Given the description of an element on the screen output the (x, y) to click on. 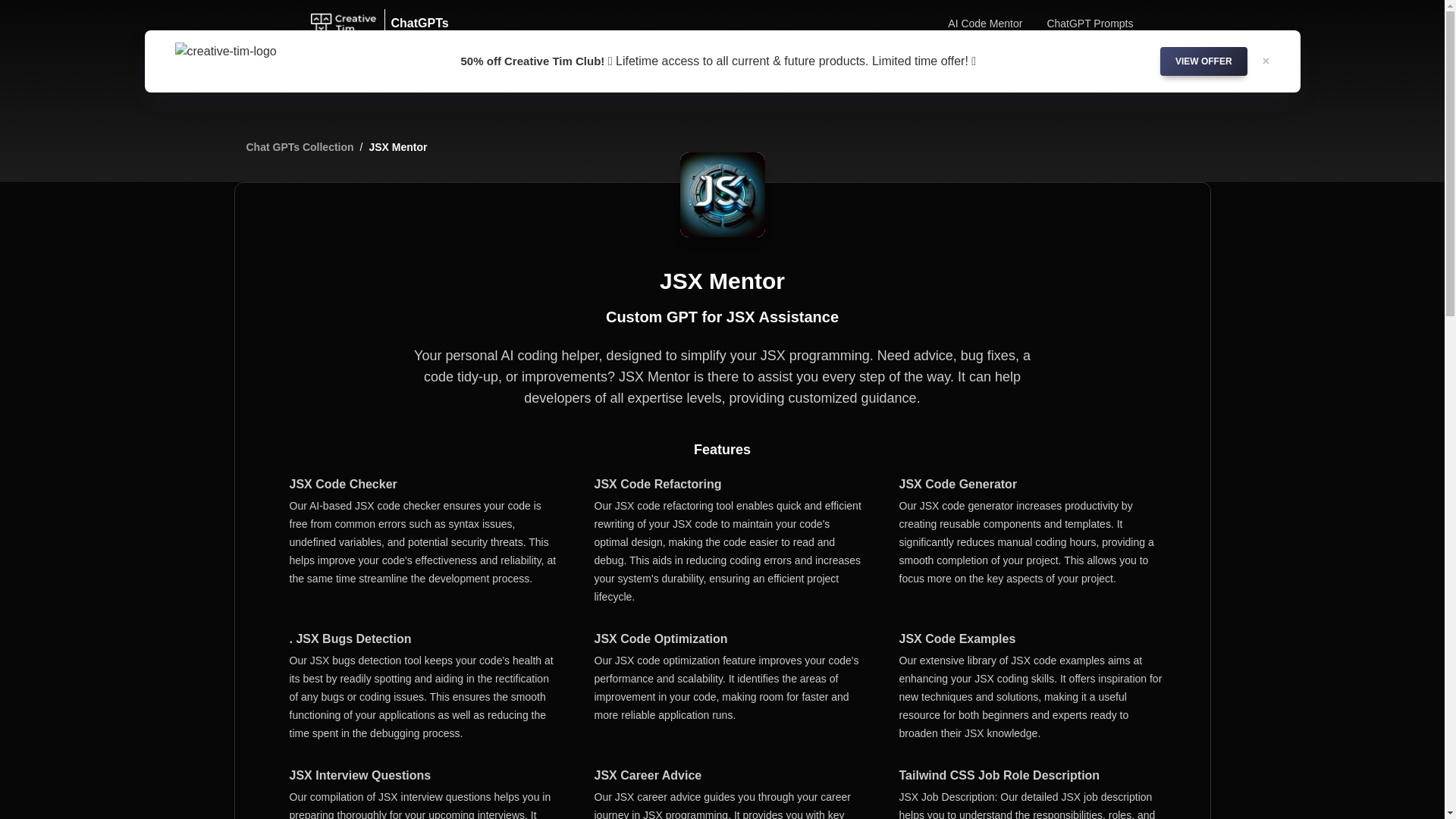
VIEW OFFER (1203, 61)
ChatGPTs (416, 23)
ChatGPT Prompts (1089, 23)
AI Code Mentor (984, 23)
Chat GPTs Collection (299, 147)
